Given the description of an element on the screen output the (x, y) to click on. 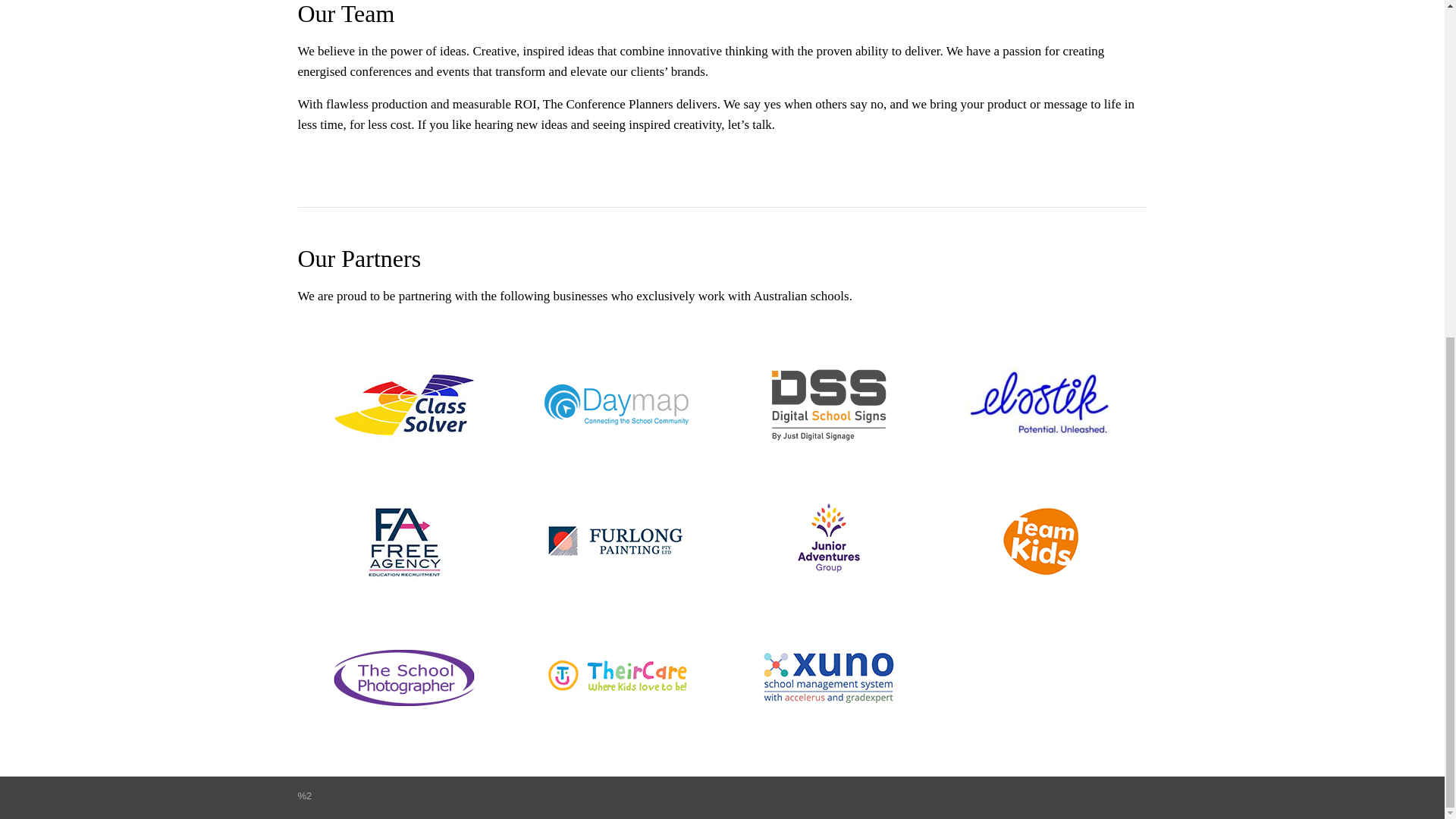
Digital School Signs (828, 404)
Free-Agency (403, 541)
School-Photographer (403, 677)
elastik (1039, 404)
Their-Care (615, 677)
Team-Kids (1039, 541)
Daymap (615, 404)
Xuno (828, 677)
junior adventures group (828, 541)
Furlong-Painting (615, 541)
